Given the description of an element on the screen output the (x, y) to click on. 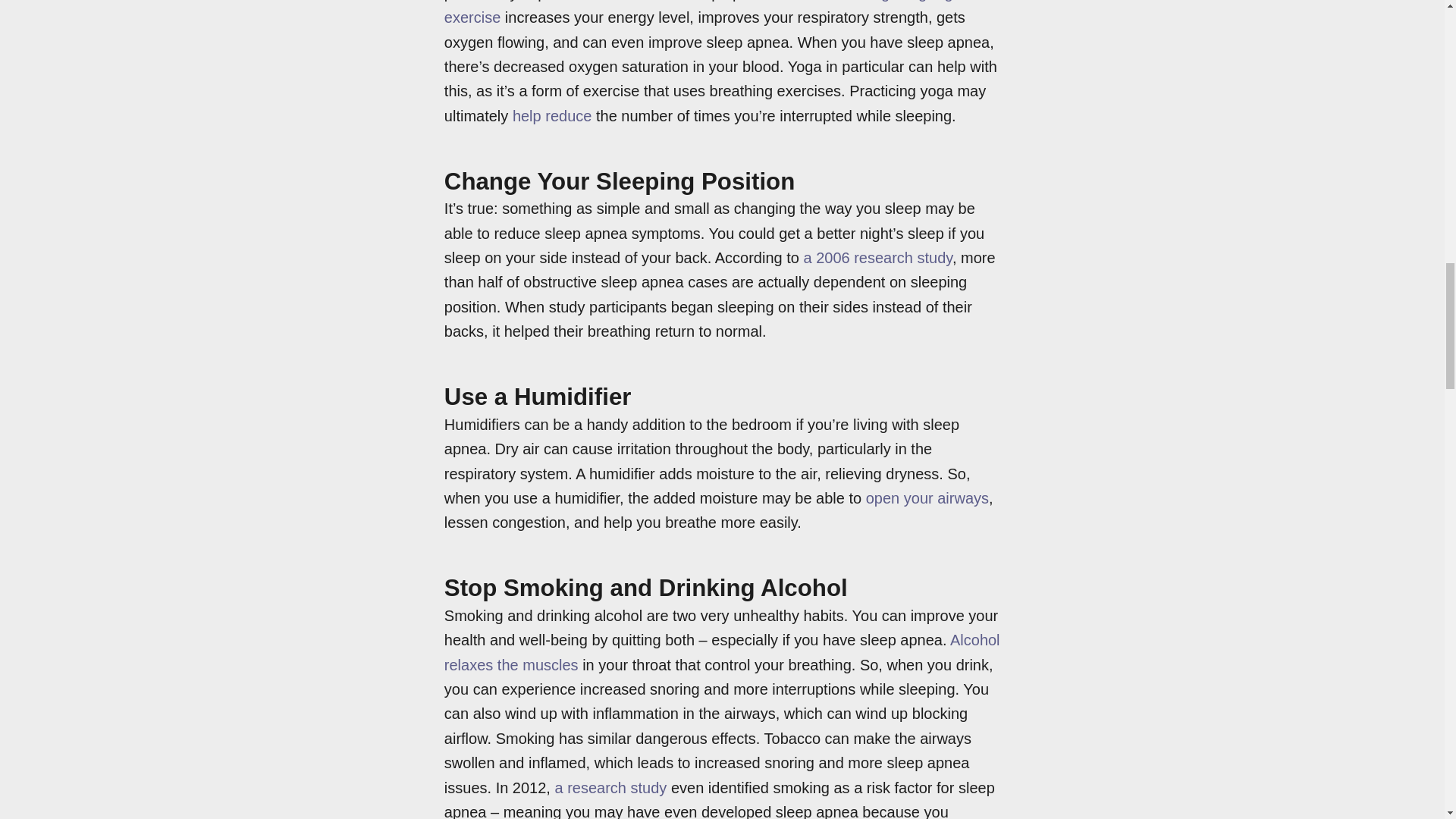
open your airways (924, 497)
Alcohol relaxes the muscles (722, 651)
a research study (608, 787)
help reduce (549, 115)
a 2006 research study (875, 257)
getting regular exercise (711, 12)
